Given the description of an element on the screen output the (x, y) to click on. 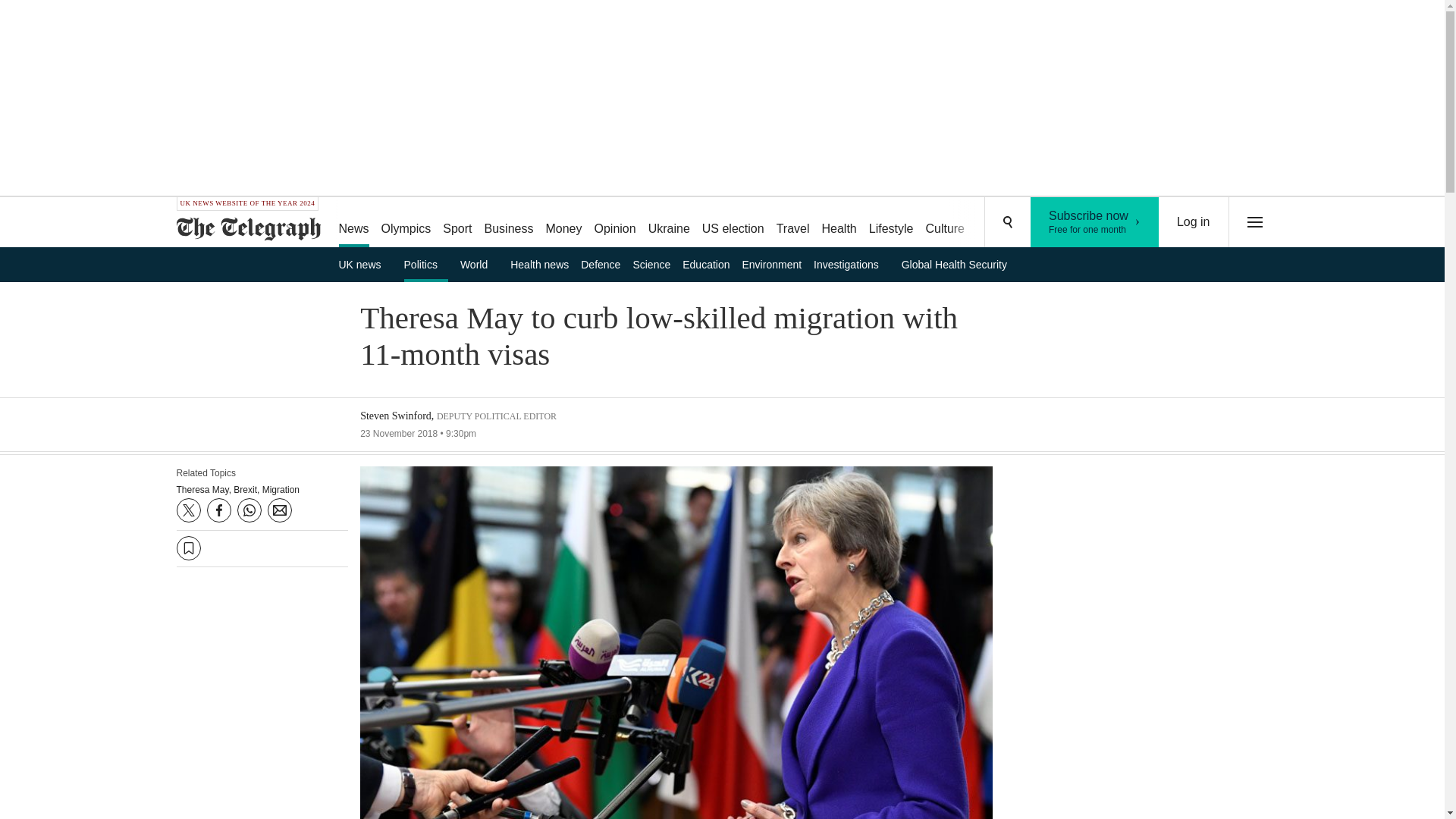
Business (509, 223)
UK news (364, 264)
Olympics (406, 223)
Health (838, 223)
Ukraine (668, 223)
Lifestyle (891, 223)
US election (732, 223)
World (478, 264)
Opinion (615, 223)
Log in (1193, 222)
Puzzles (998, 223)
Podcasts (1094, 222)
Culture (1056, 223)
Politics (944, 223)
